Given the description of an element on the screen output the (x, y) to click on. 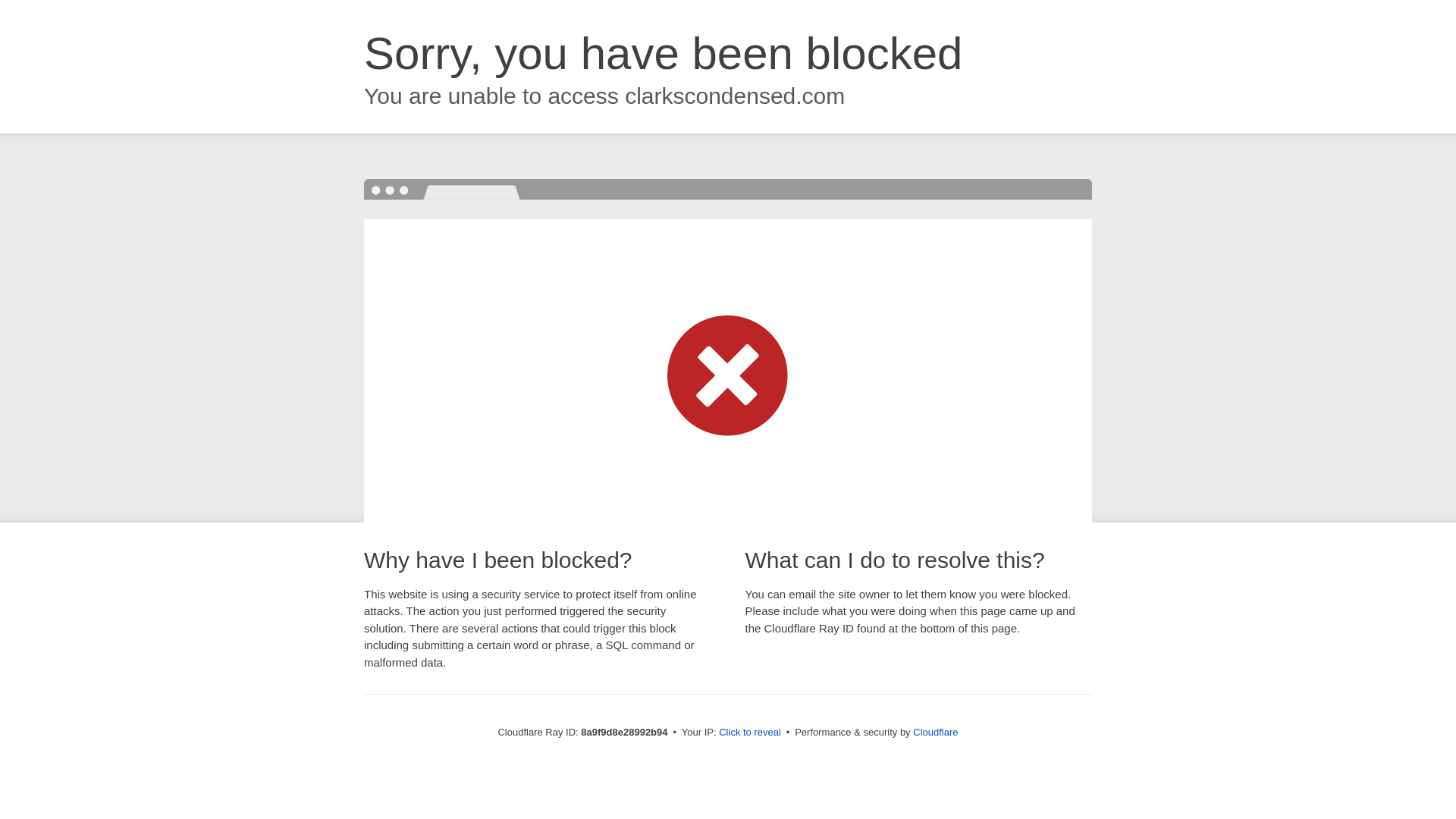
Click to reveal (749, 732)
Cloudflare (935, 731)
